Given the description of an element on the screen output the (x, y) to click on. 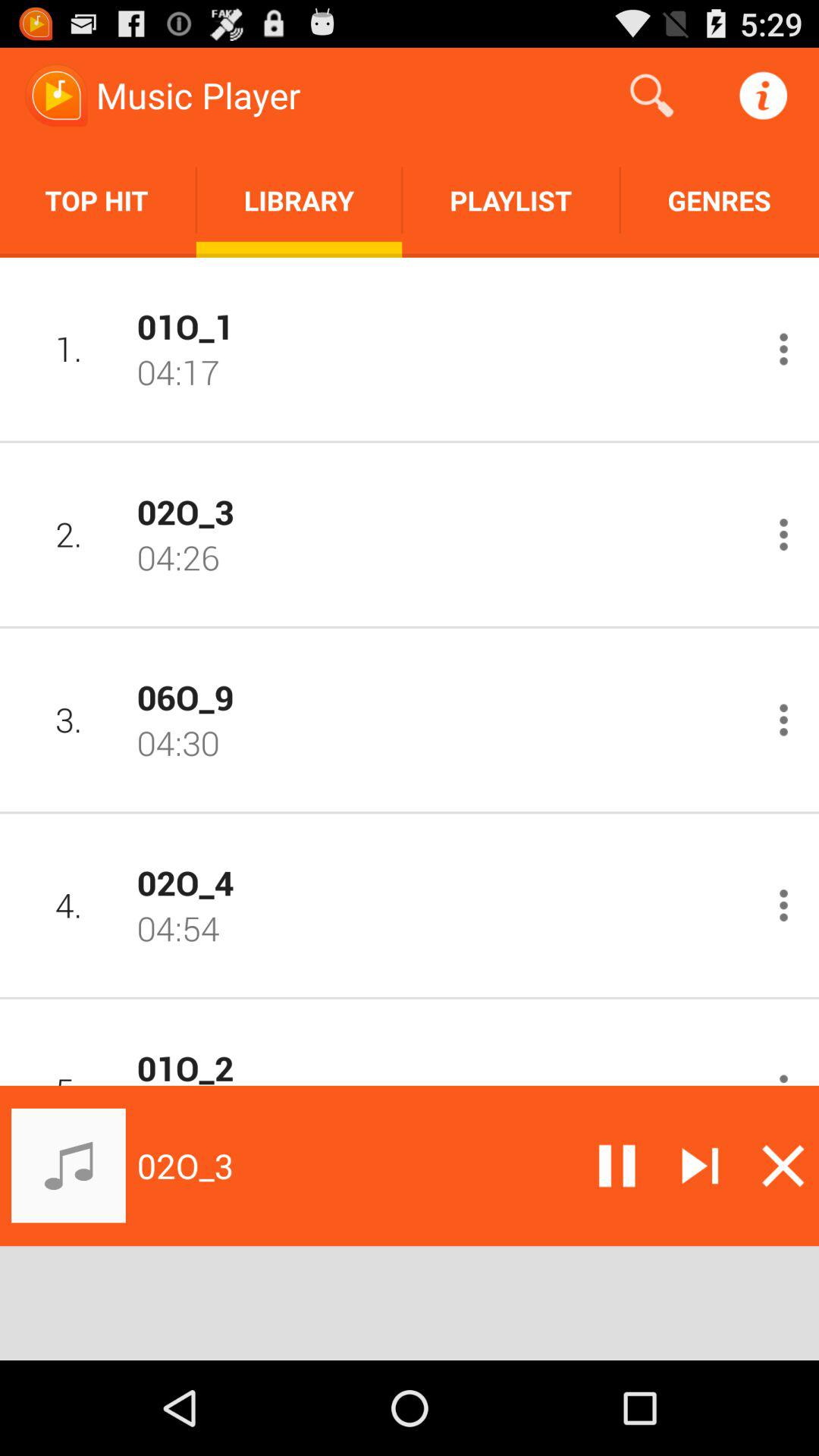
turn on app next to the playlist icon (299, 200)
